Given the description of an element on the screen output the (x, y) to click on. 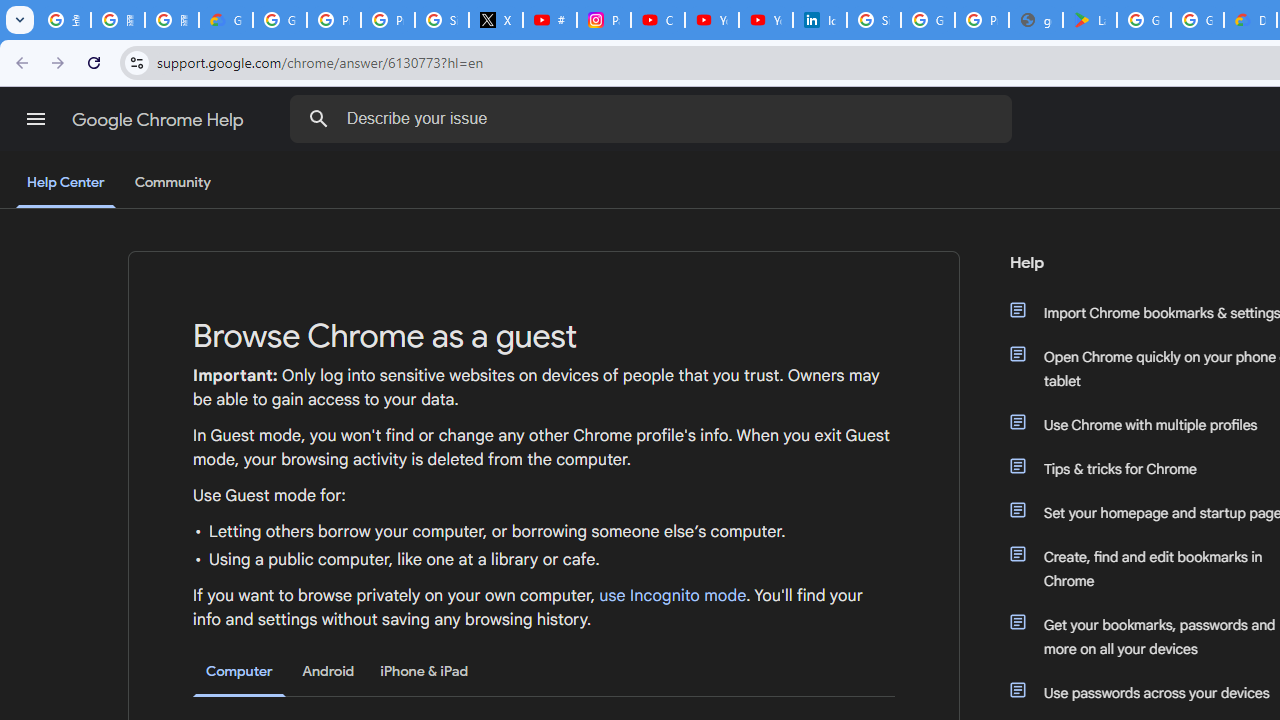
Sign in - Google Accounts (441, 20)
Computer (239, 672)
